Given the description of an element on the screen output the (x, y) to click on. 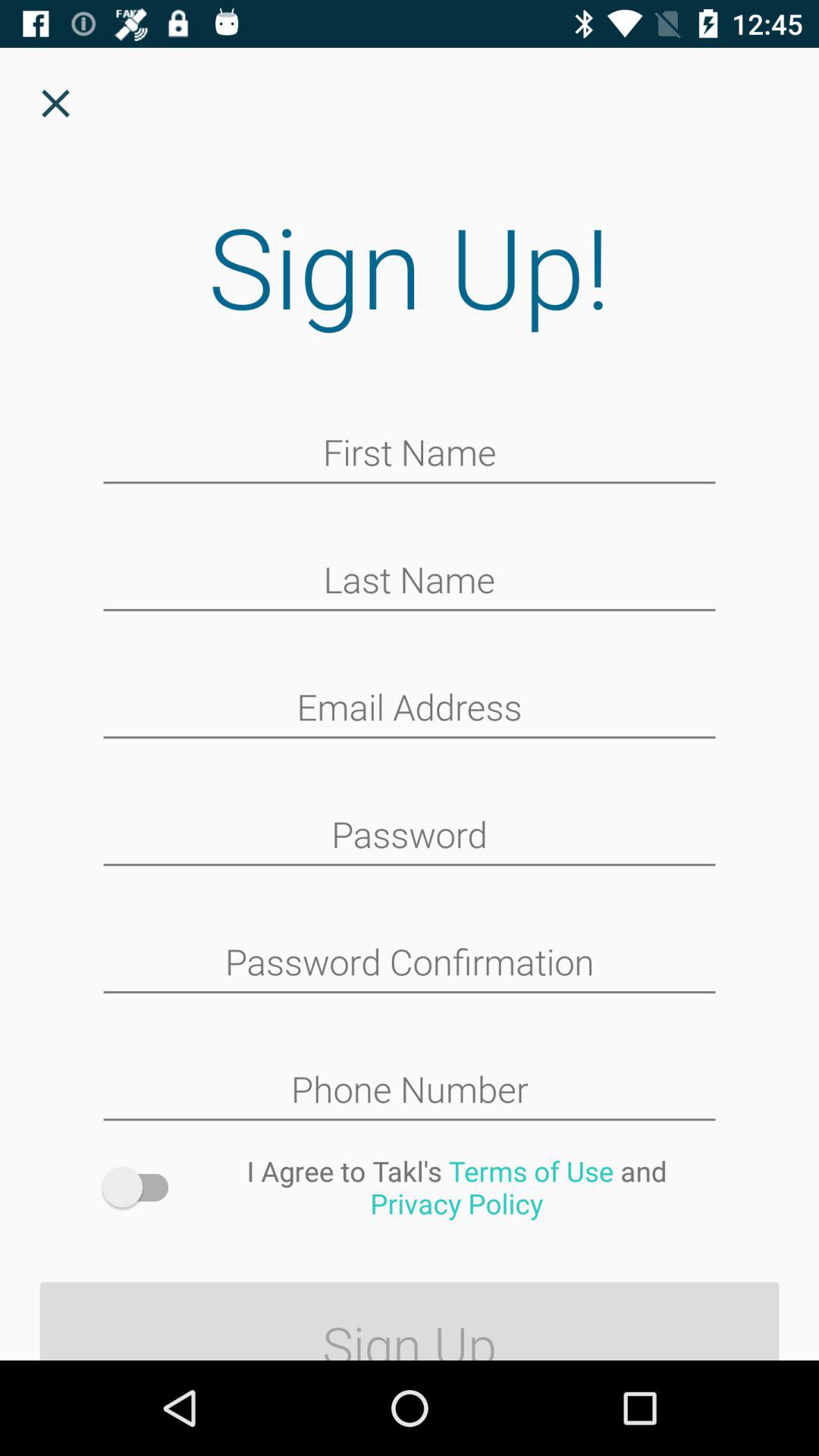
text box to enter user 's first name (409, 454)
